Given the description of an element on the screen output the (x, y) to click on. 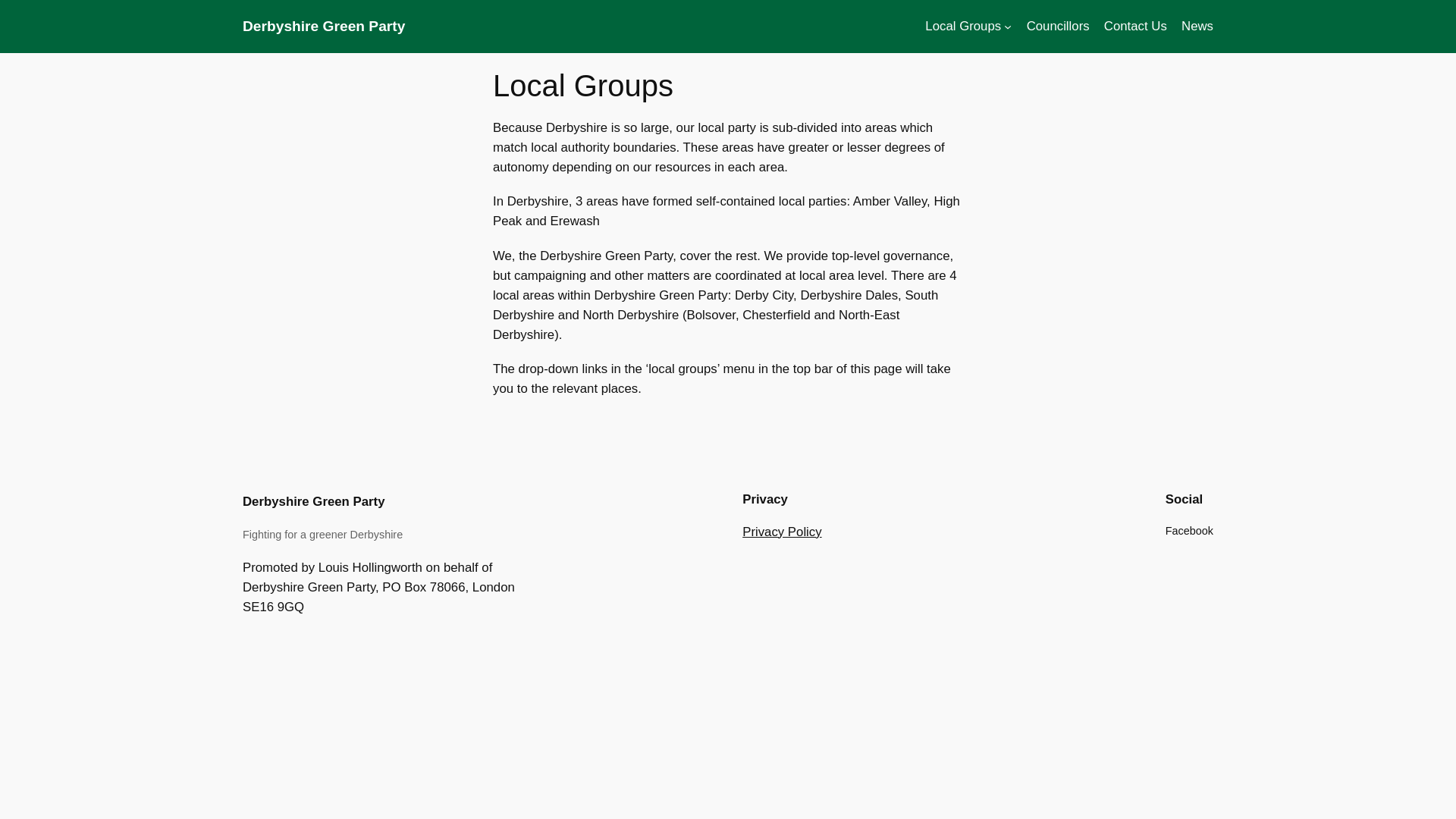
News (1196, 26)
Facebook (1189, 530)
Derbyshire Green Party (313, 501)
Contact Us (1135, 26)
Local Groups (962, 26)
Privacy Policy (781, 532)
Councillors (1057, 26)
Derbyshire Green Party (323, 26)
